Given the description of an element on the screen output the (x, y) to click on. 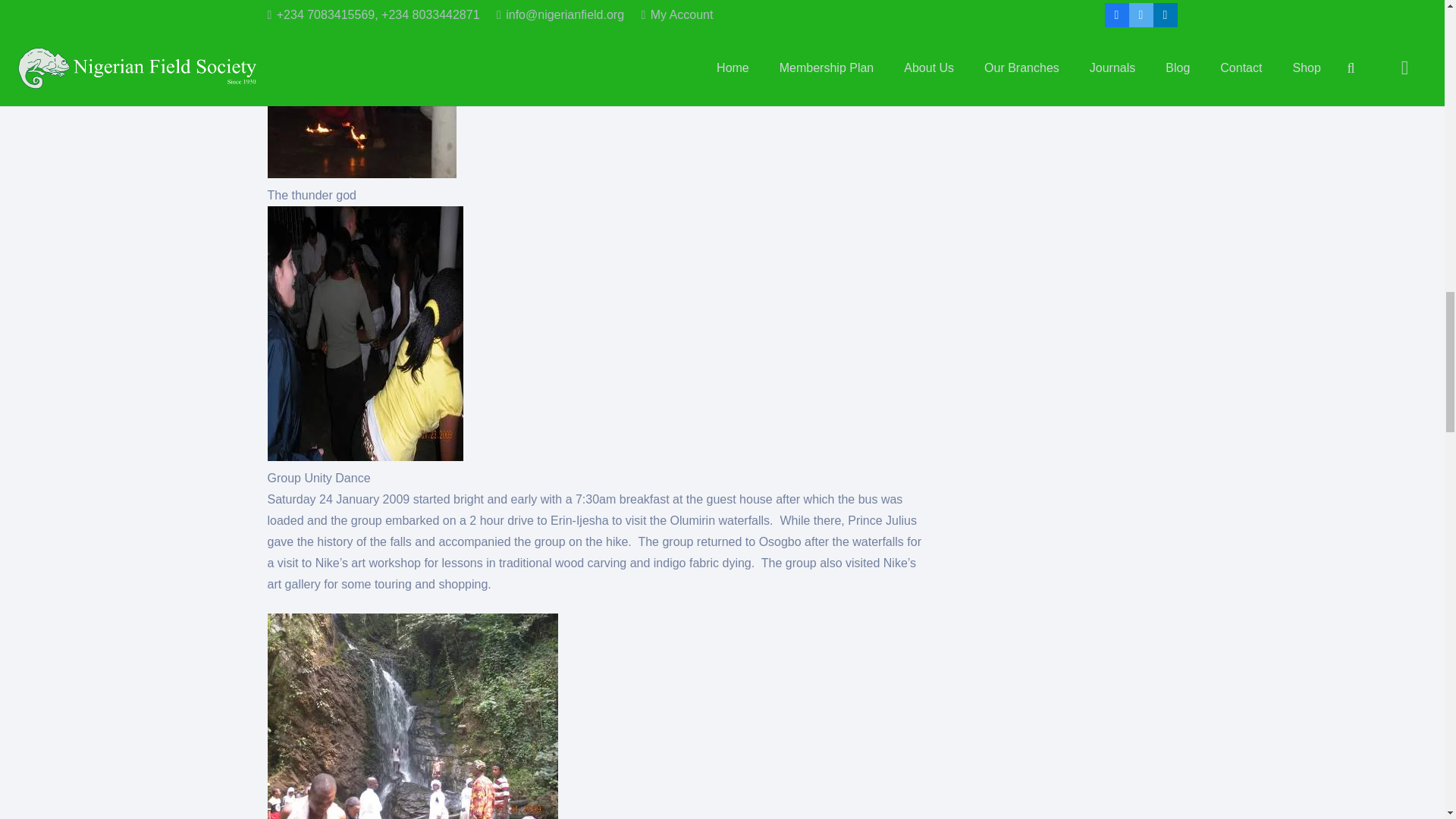
Last waterfall of the Olumirin Waterfalls (411, 716)
The thunder god (360, 89)
